Given the description of an element on the screen output the (x, y) to click on. 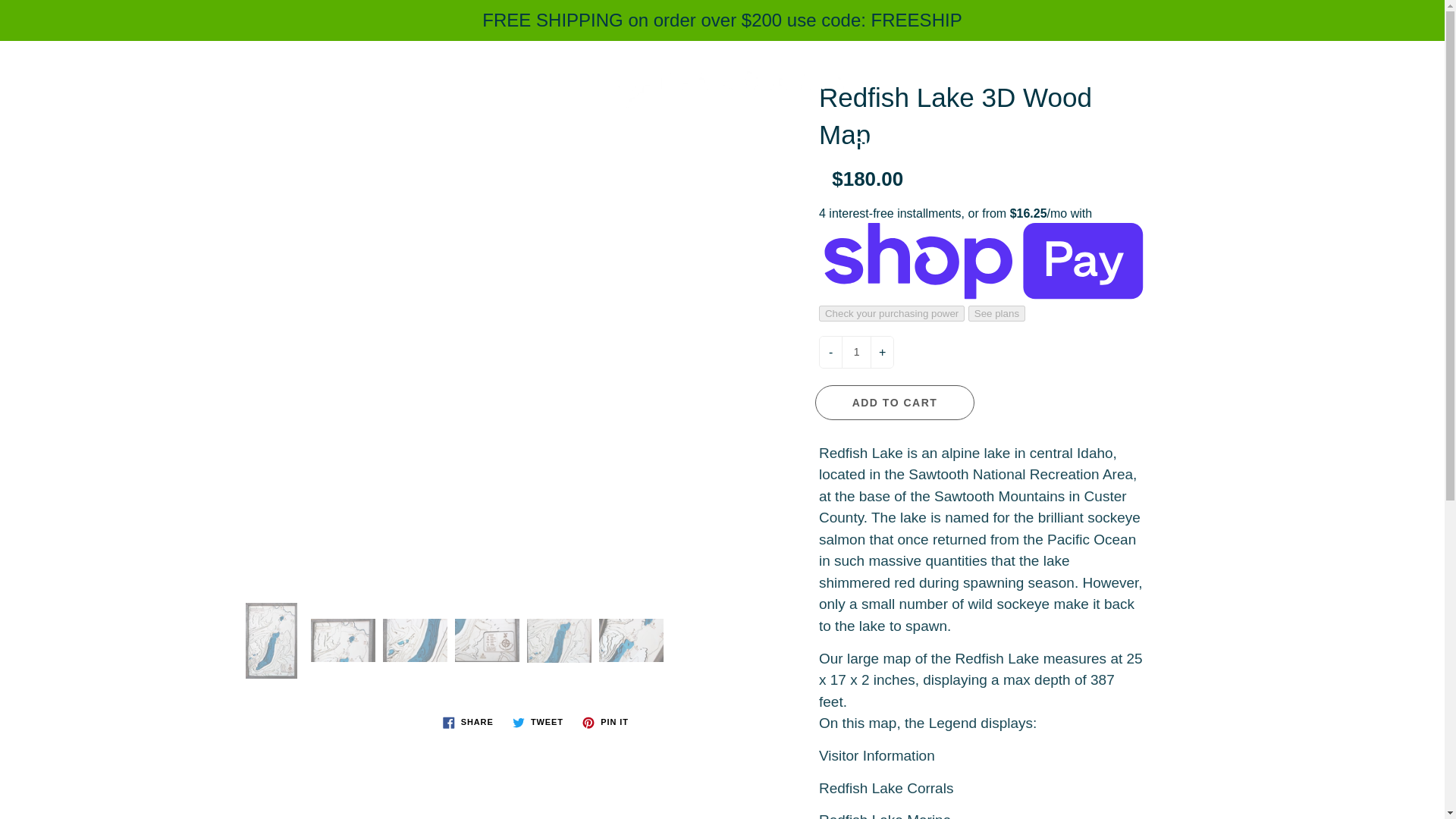
Redfish Lake 3D Wood Map (486, 640)
Share on Facebook (467, 722)
HOME (500, 141)
Redfish Lake 3D Wood Map (414, 640)
CONTACT US (759, 141)
1 (855, 351)
Search (28, 67)
Redfish Lake 3D Wood Map (343, 640)
FIND A STORE (910, 141)
You have 0 items in your cart (1417, 67)
